Given the description of an element on the screen output the (x, y) to click on. 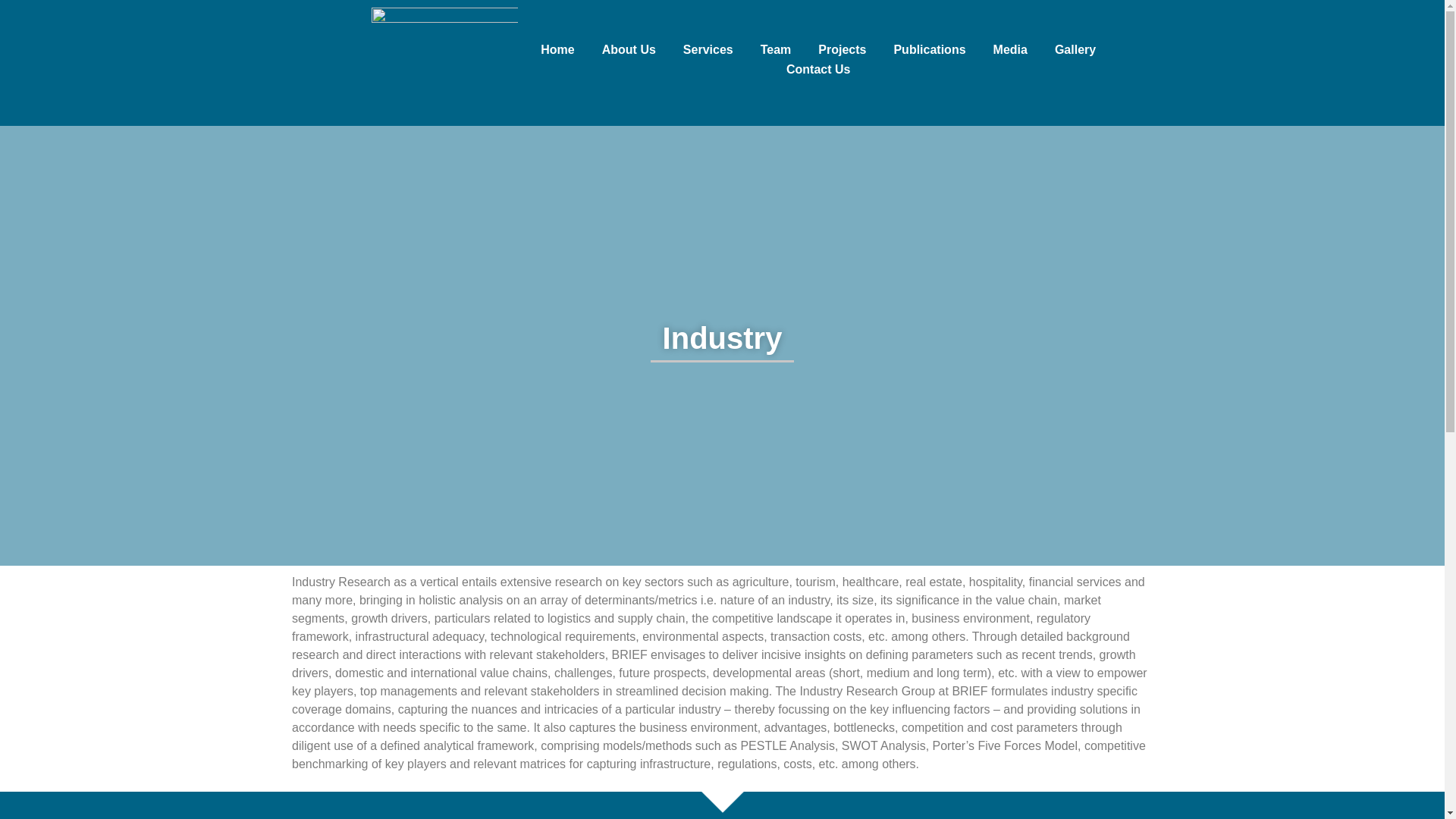
Media (1010, 49)
Home (557, 49)
Gallery (1075, 49)
Publications (928, 49)
Team (775, 49)
Contact Us (818, 69)
Services (707, 49)
About Us (628, 49)
Projects (842, 49)
